Given the description of an element on the screen output the (x, y) to click on. 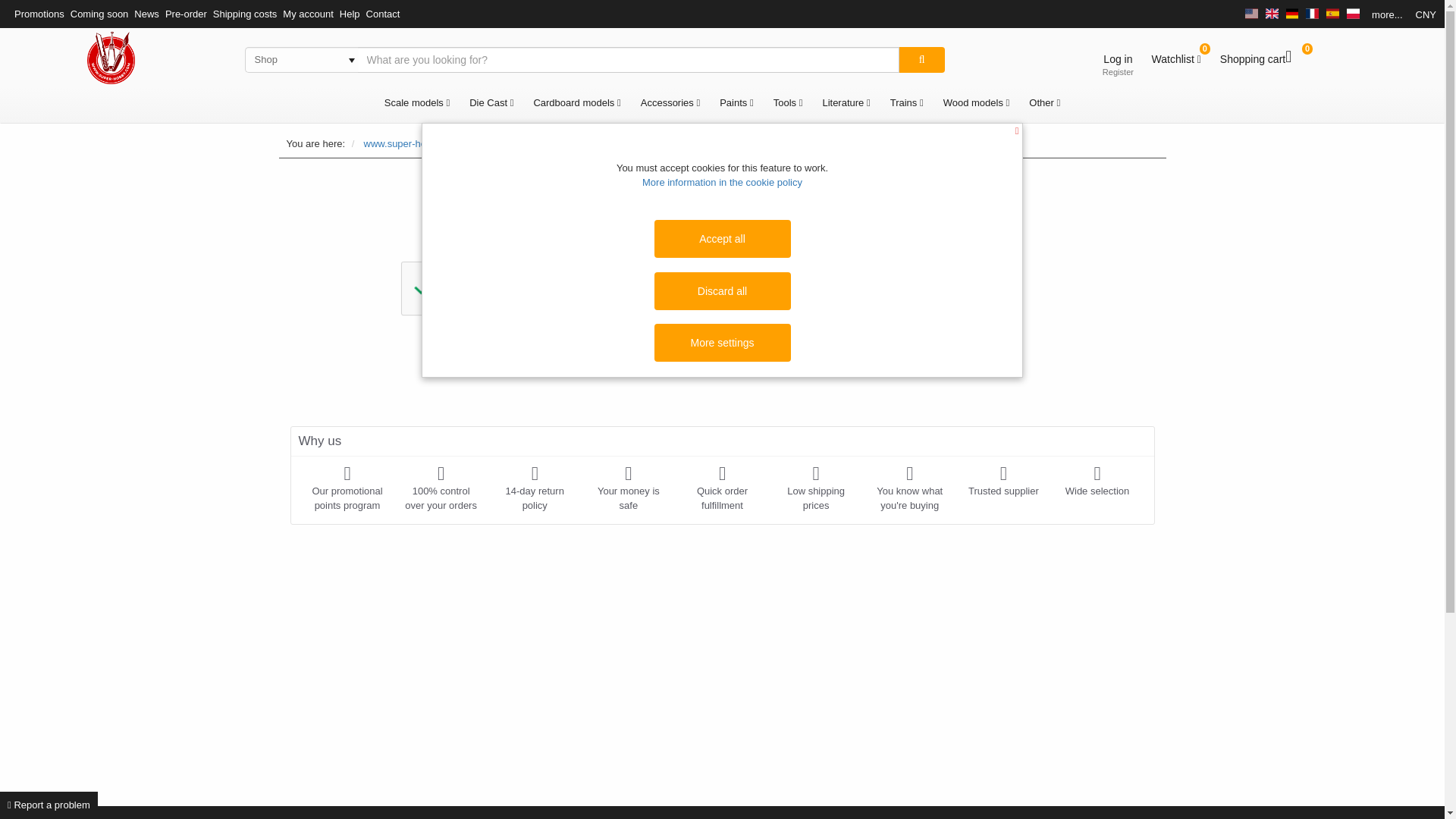
Secure payment through PayU, PayPal, or C.O.D. (628, 488)
Super-Hobby.com - internet modelling shop (111, 57)
Report a problem (48, 804)
Super-Hobby.com - internet modelling shop (111, 57)
We've been around since 2014 - read more about our company (1003, 481)
